Given the description of an element on the screen output the (x, y) to click on. 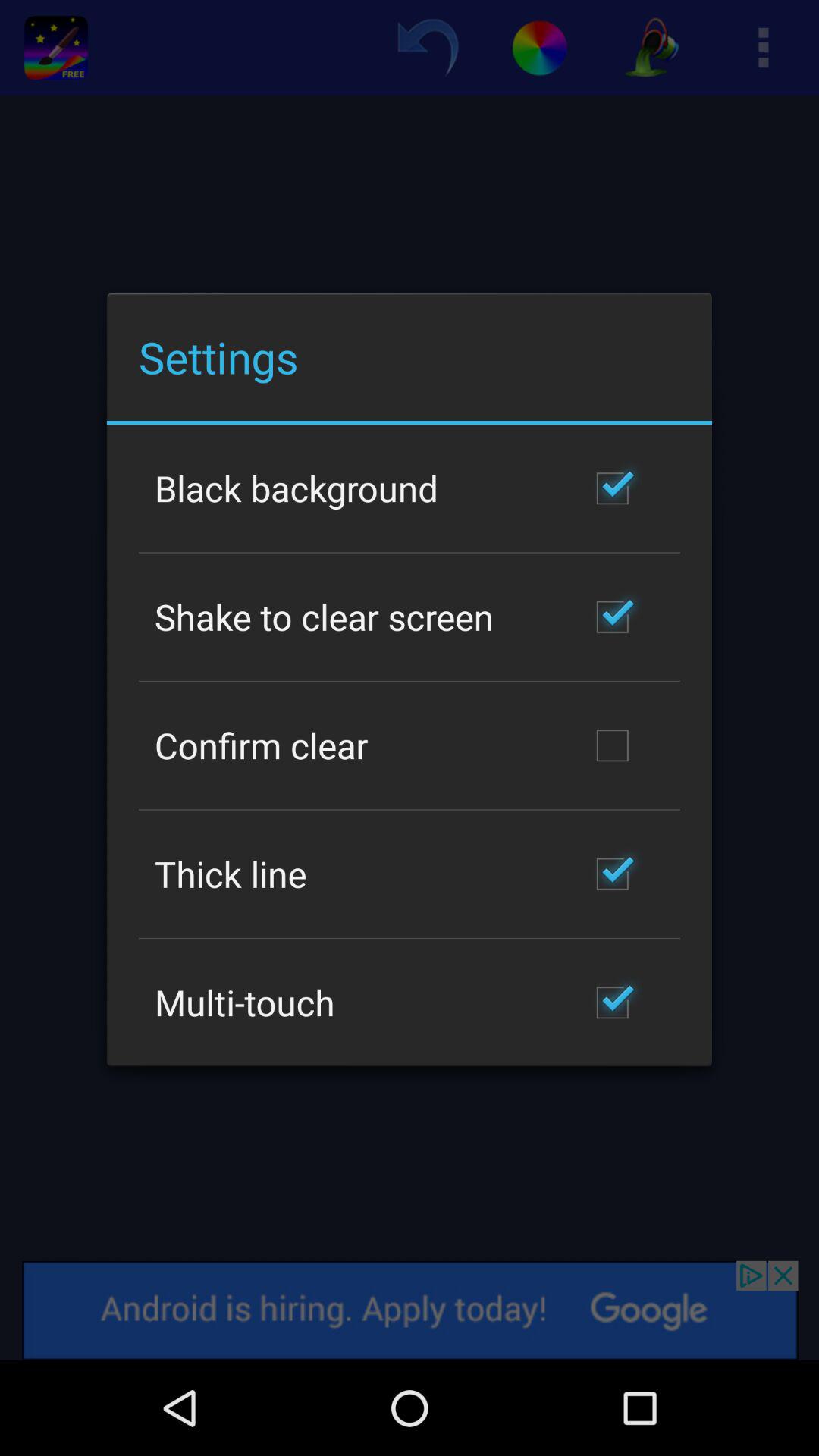
press item below the confirm clear icon (230, 873)
